Given the description of an element on the screen output the (x, y) to click on. 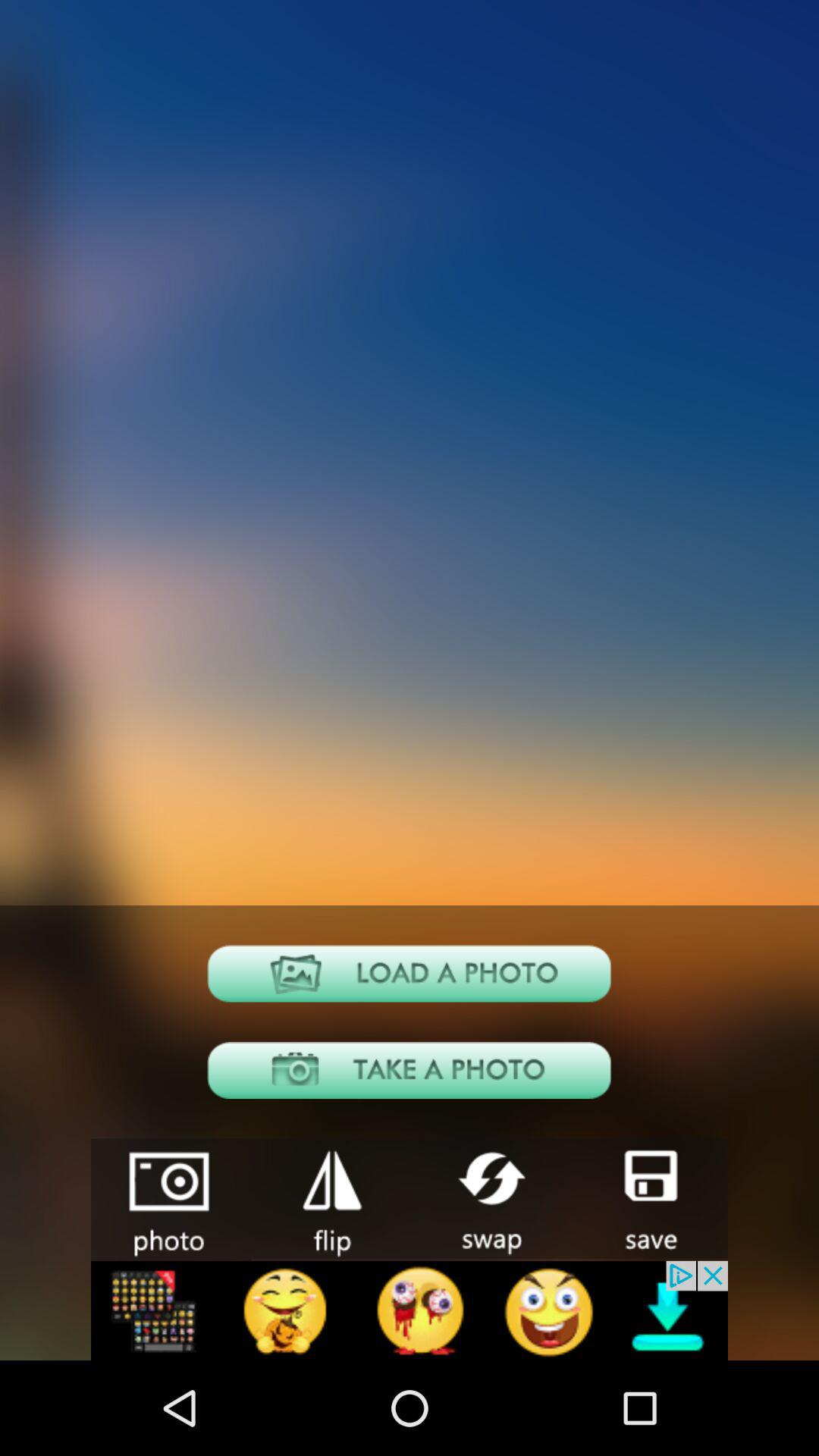
advertisement (409, 1310)
